Given the description of an element on the screen output the (x, y) to click on. 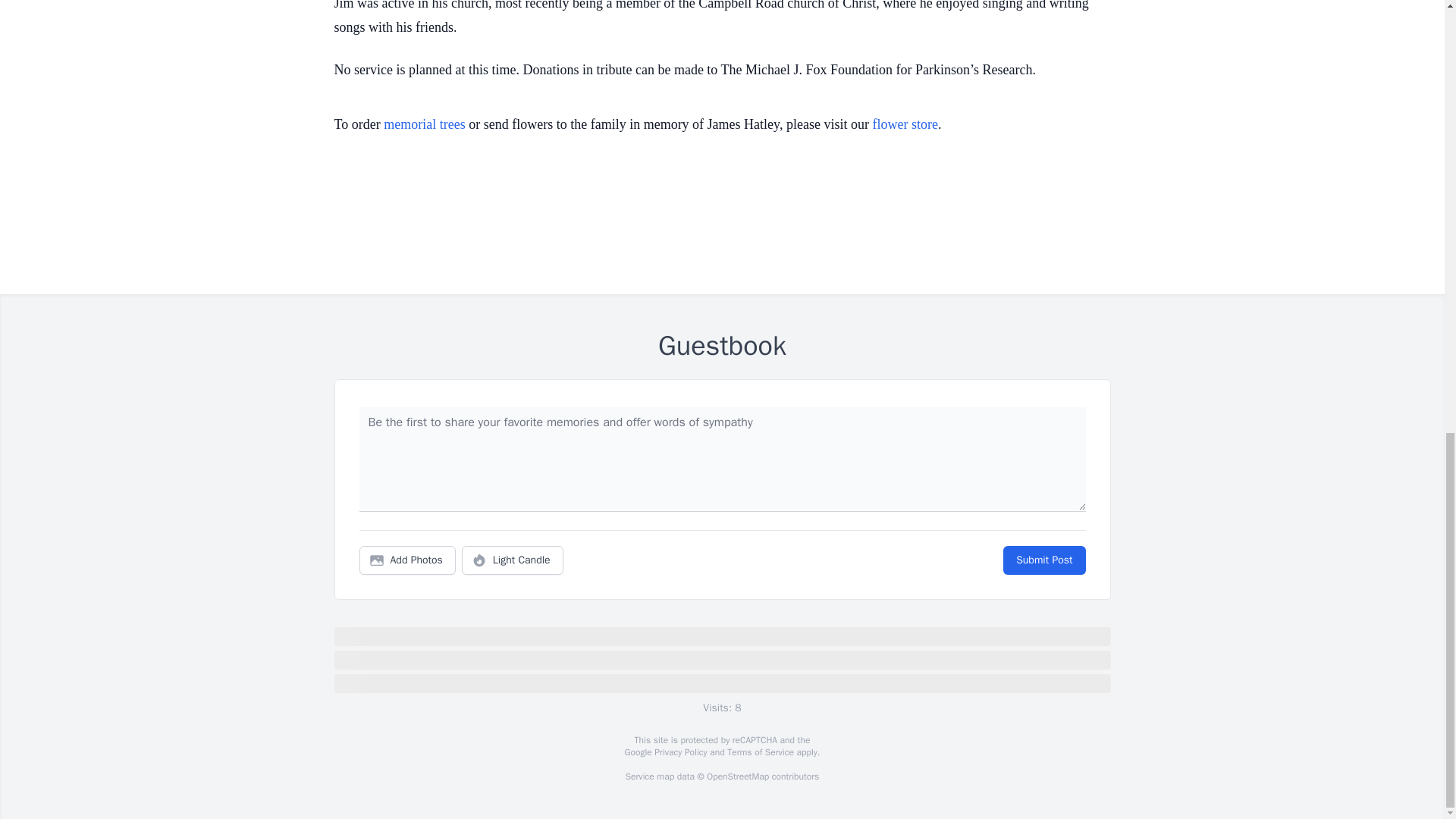
Light Candle (512, 560)
Submit Post (1043, 560)
Add Photos (407, 560)
memorial trees (424, 124)
OpenStreetMap (737, 776)
flower store (904, 124)
Terms of Service (759, 752)
Privacy Policy (679, 752)
